Given the description of an element on the screen output the (x, y) to click on. 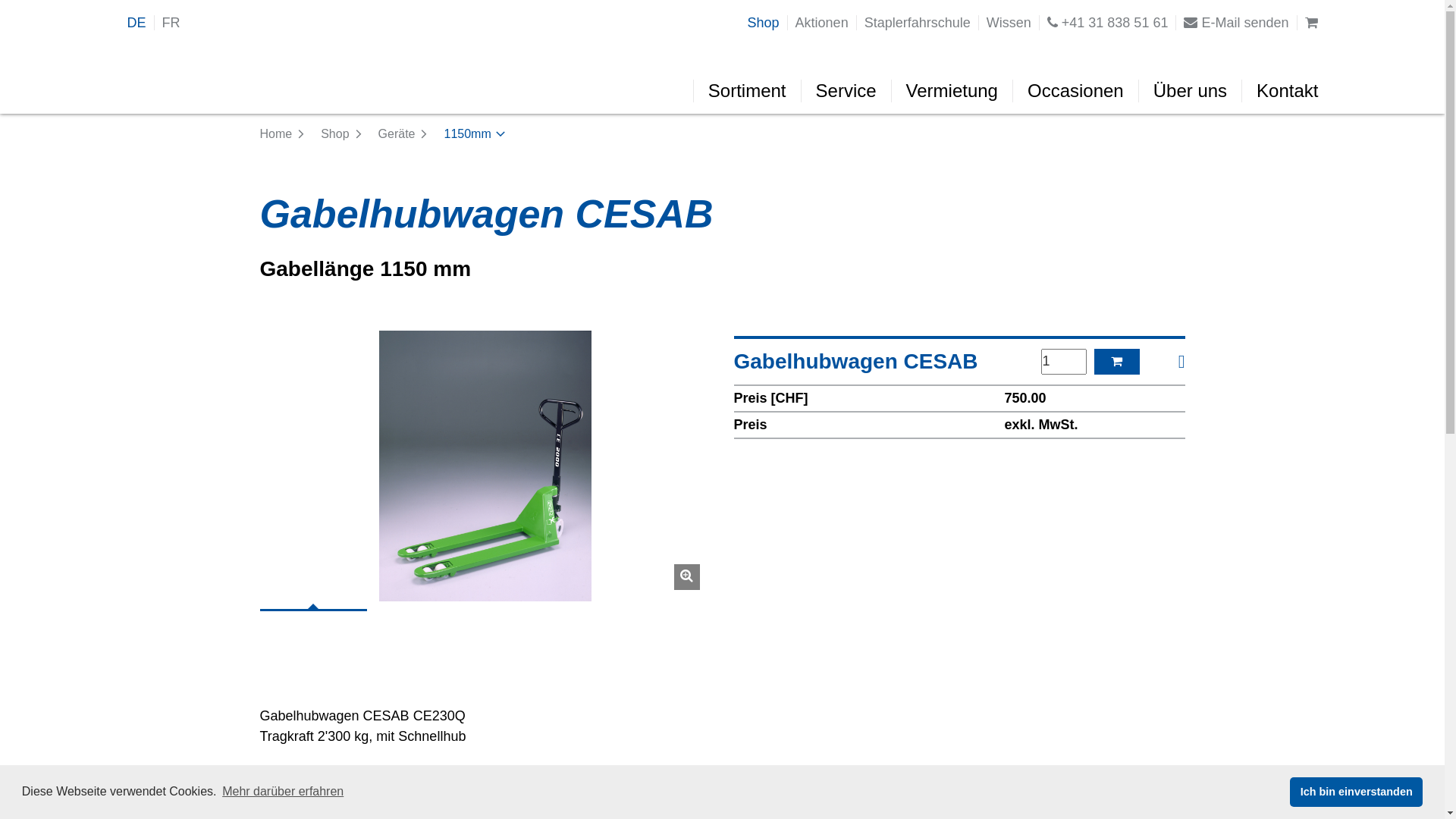
Occasionen Element type: text (1075, 90)
Kontakt Element type: text (1286, 90)
Home Element type: text (282, 134)
Ich bin einverstanden Element type: text (1355, 791)
Shop Element type: text (763, 22)
Service Element type: text (845, 90)
E-Mail senden Element type: text (1235, 22)
Gabelhubwagen CESAB Element type: hover (484, 465)
Sortiment Element type: text (746, 90)
+41 31 838 51 61 Element type: text (1107, 22)
Shop Element type: text (341, 134)
DE Element type: text (136, 22)
Vermietung Element type: text (951, 90)
FR Element type: text (171, 22)
Aktionen Element type: text (821, 22)
Gabelhubwagen CESAB Element type: text (959, 360)
Staplerfahrschule Element type: text (917, 22)
Wissen Element type: text (1008, 22)
